Given the description of an element on the screen output the (x, y) to click on. 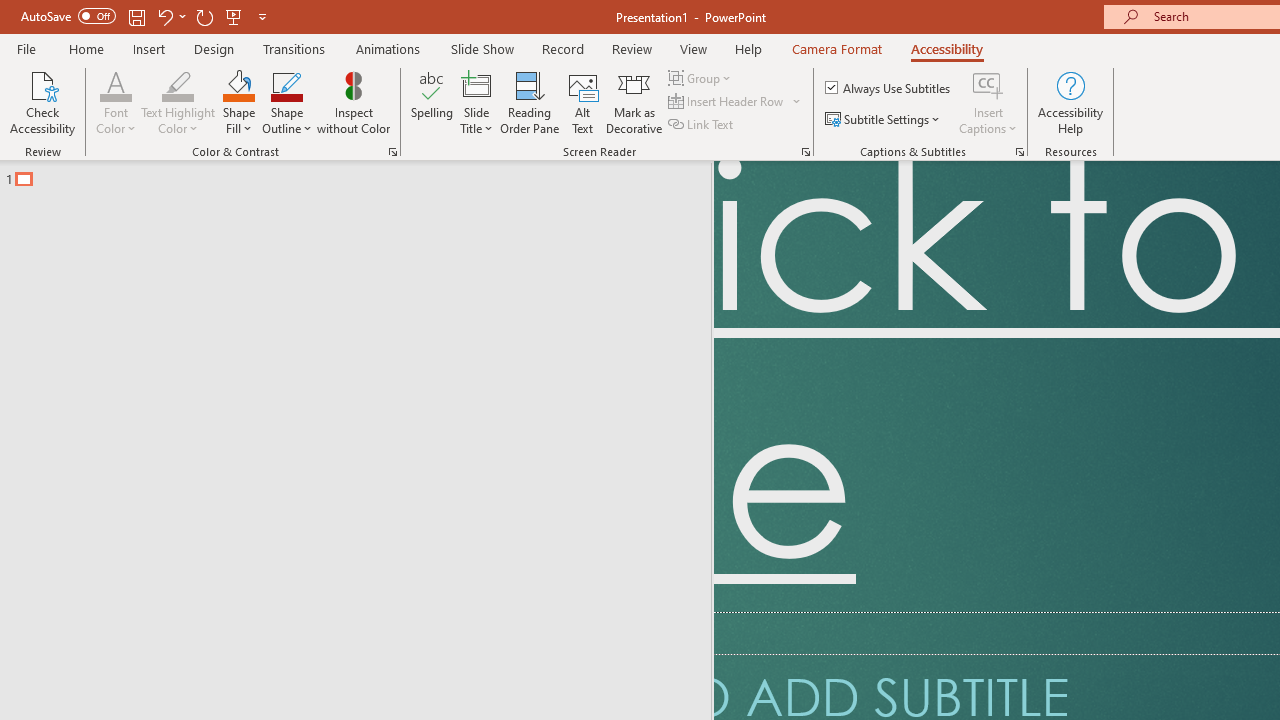
Mark as Decorative (634, 102)
Captions & Subtitles (1019, 151)
